Given the description of an element on the screen output the (x, y) to click on. 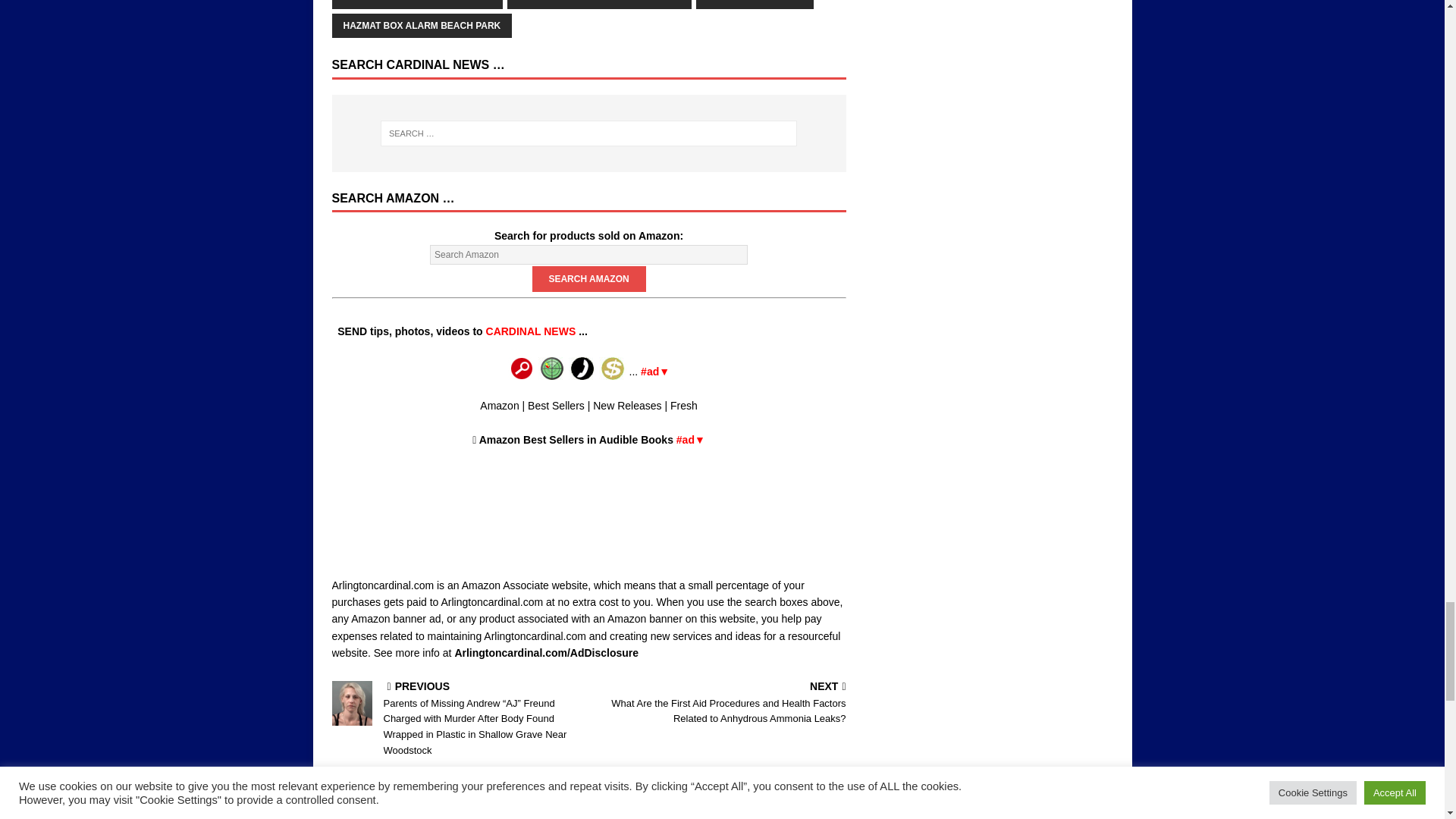
Search Amazon (589, 278)
